Given the description of an element on the screen output the (x, y) to click on. 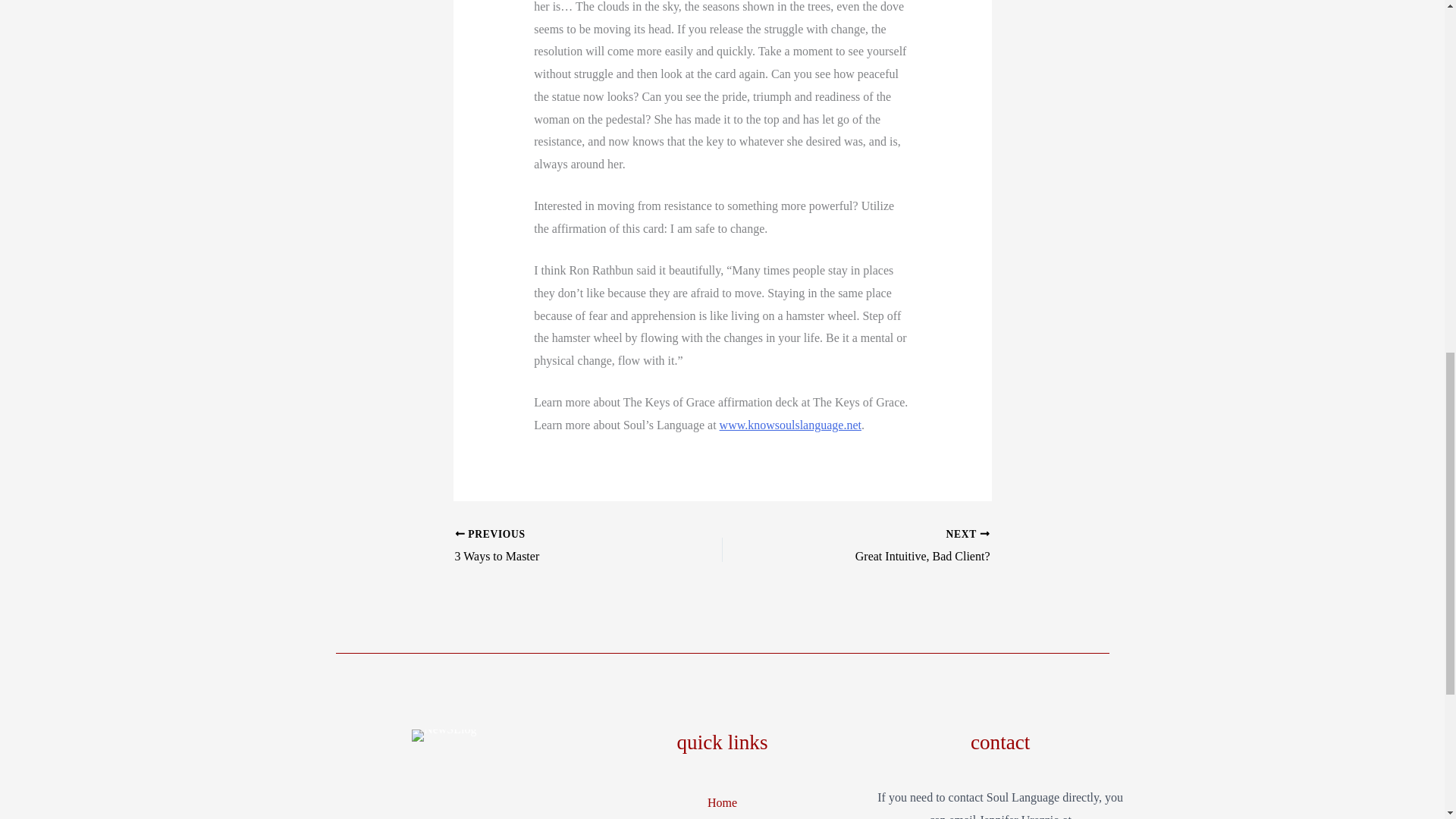
Great Intuitive, Bad Client? (882, 546)
3 Ways to Master (561, 546)
NewSLlog (444, 735)
